Given the description of an element on the screen output the (x, y) to click on. 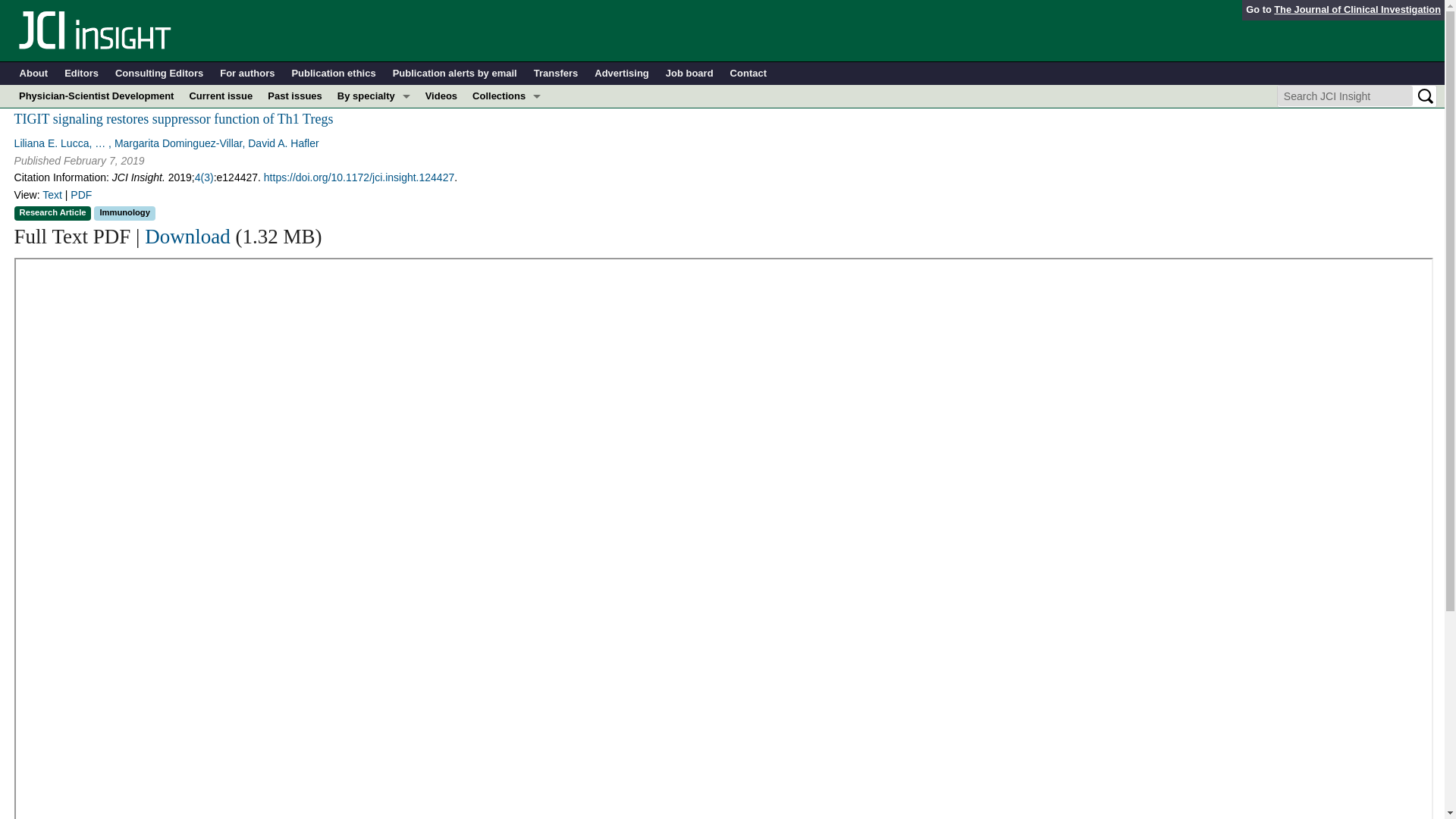
Pulmonology (373, 255)
Immunology (373, 164)
Cardiology (373, 141)
About (34, 73)
Current issue (220, 96)
Clinical Medicine (506, 164)
Oncology (373, 232)
Publication alerts by email (454, 73)
For authors (247, 73)
Editors (81, 73)
